Given the description of an element on the screen output the (x, y) to click on. 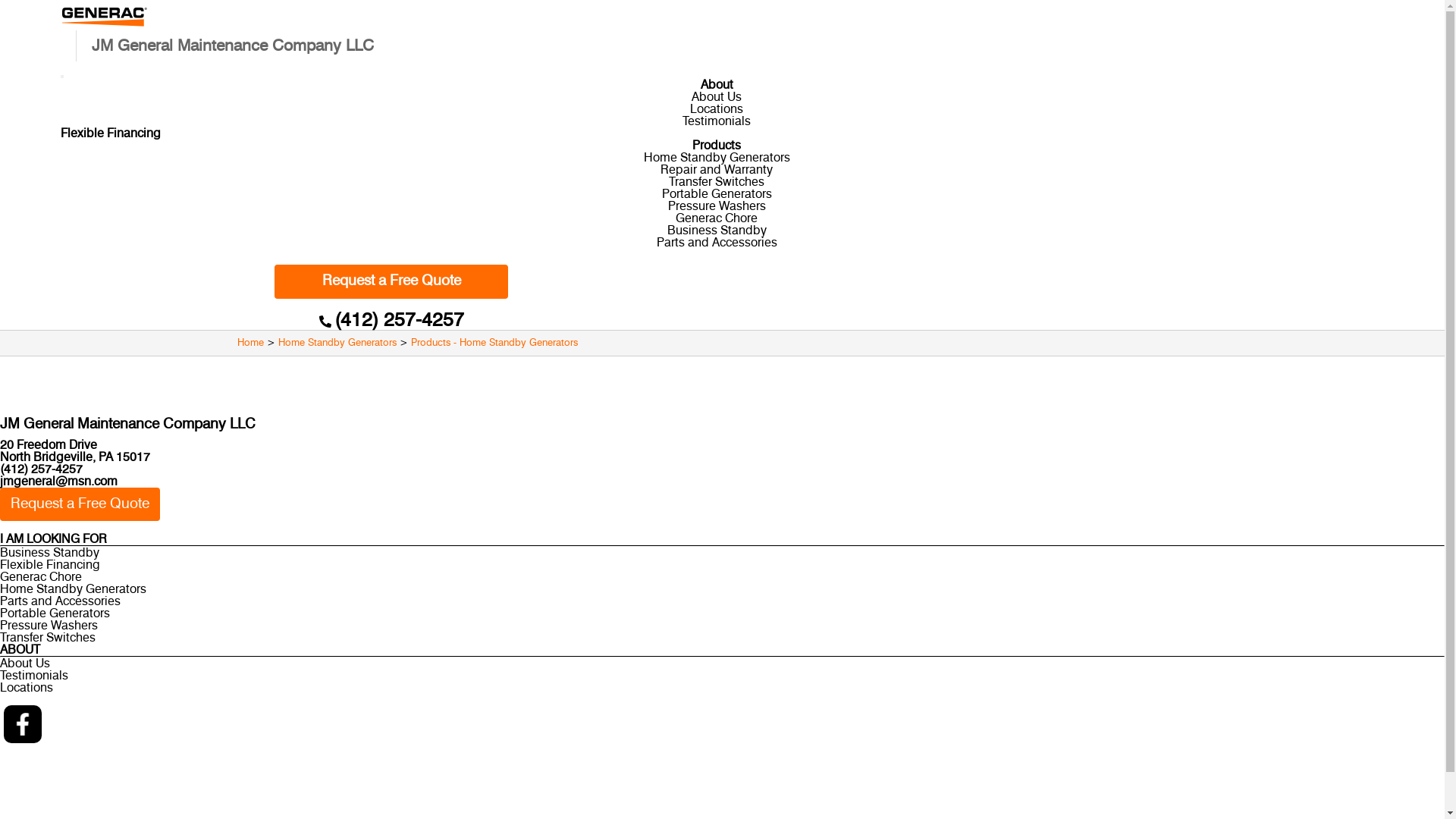
Home Standby Generators Element type: text (336, 343)
Home Standby Generators Element type: text (716, 157)
Testimonials Element type: text (716, 121)
Generac Chore Element type: text (722, 577)
(412) 257-4257 Element type: text (399, 319)
Flexible Financing Element type: text (110, 133)
Locations Element type: text (716, 109)
Repair and Warranty Element type: text (716, 169)
20 Freedom Drive
North Bridgeville, PA 15017 Element type: text (722, 451)
Request a Free Quote Element type: text (391, 281)
Portable Generators Element type: text (722, 613)
Home Standby Generators Element type: text (722, 589)
Flexible Financing Element type: text (722, 564)
About Us Element type: text (716, 97)
Transfer Switches Element type: text (722, 637)
Portable Generators Element type: text (716, 194)
Home Element type: text (249, 343)
Parts and Accessories Element type: text (722, 601)
Products Element type: text (716, 145)
Locations Element type: text (722, 687)
Pressure Washers Element type: text (716, 206)
Parts and Accessories Element type: text (716, 242)
(412) 257-4257 Element type: text (41, 469)
Business Standby Element type: text (716, 230)
About Element type: text (716, 84)
Testimonials Element type: text (722, 675)
About Us Element type: text (722, 663)
Generac Chore Element type: text (716, 218)
Request a Free Quote Element type: text (80, 504)
Transfer Switches Element type: text (716, 181)
Products - Home Standby Generators Element type: text (494, 343)
jmgeneral@msn.com Element type: text (58, 481)
Pressure Washers Element type: text (722, 625)
Business Standby Element type: text (722, 552)
